Given the description of an element on the screen output the (x, y) to click on. 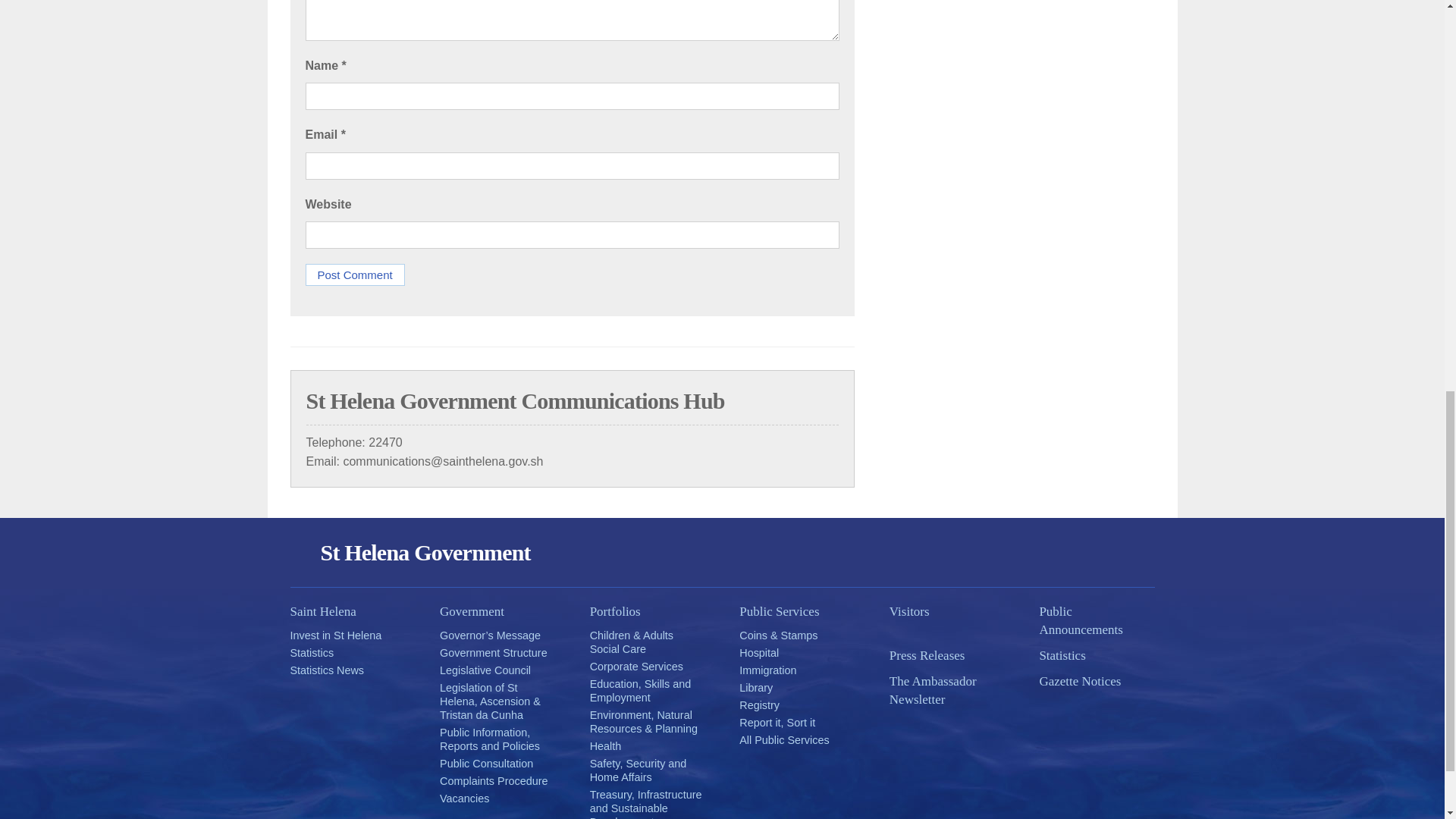
Information for visitors (946, 611)
Post Comment (354, 274)
Information for investors (335, 635)
